Given the description of an element on the screen output the (x, y) to click on. 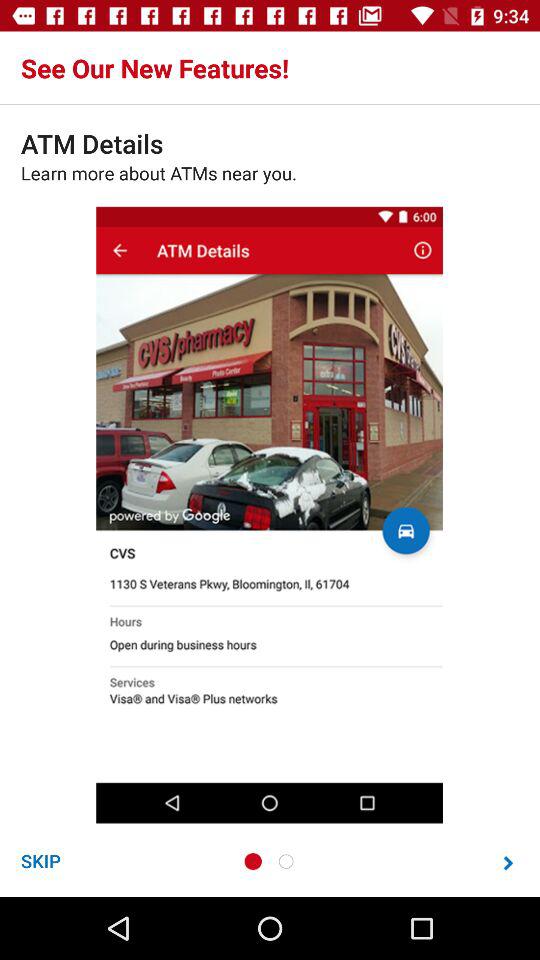
turn off the skip (40, 860)
